Given the description of an element on the screen output the (x, y) to click on. 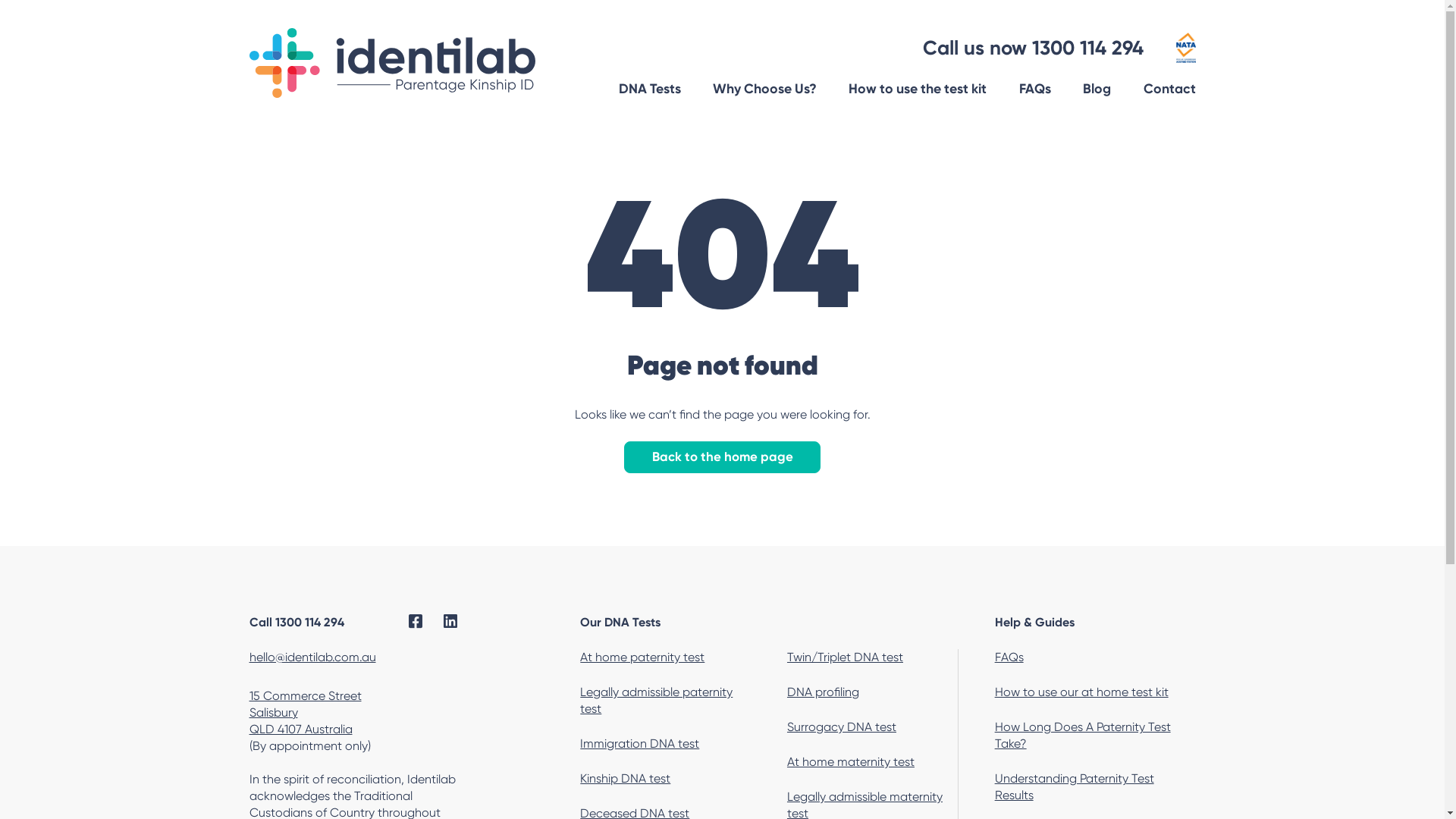
FAQs Element type: text (1035, 88)
DNA profiling Element type: text (872, 692)
DNA Tests Element type: text (649, 88)
Twin/Triplet DNA test Element type: text (872, 657)
hello@identilab.com.au Element type: text (311, 656)
15 Commerce Street
Salisbury
QLD 4107 Australia Element type: text (304, 712)
Kinship DNA test Element type: text (665, 778)
Blog Element type: text (1096, 88)
Call us now 1300 114 294 Element type: text (1032, 47)
At home maternity test Element type: text (872, 761)
At home paternity test Element type: text (665, 657)
Help & Guides Element type: text (1094, 622)
Legally admissible paternity test Element type: text (665, 700)
Understanding Paternity Test Results Element type: text (1094, 786)
Back to the home page Element type: text (722, 457)
Call 1300 114 294 Element type: text (295, 622)
How to use the test kit Element type: text (917, 88)
Surrogacy DNA test Element type: text (872, 726)
Our DNA Tests Element type: text (768, 622)
Immigration DNA test Element type: text (665, 743)
How Long Does A Paternity Test Take? Element type: text (1094, 735)
FAQs Element type: text (1094, 657)
How to use our at home test kit Element type: text (1094, 692)
Why Choose Us? Element type: text (764, 88)
Contact Element type: text (1169, 88)
